Given the description of an element on the screen output the (x, y) to click on. 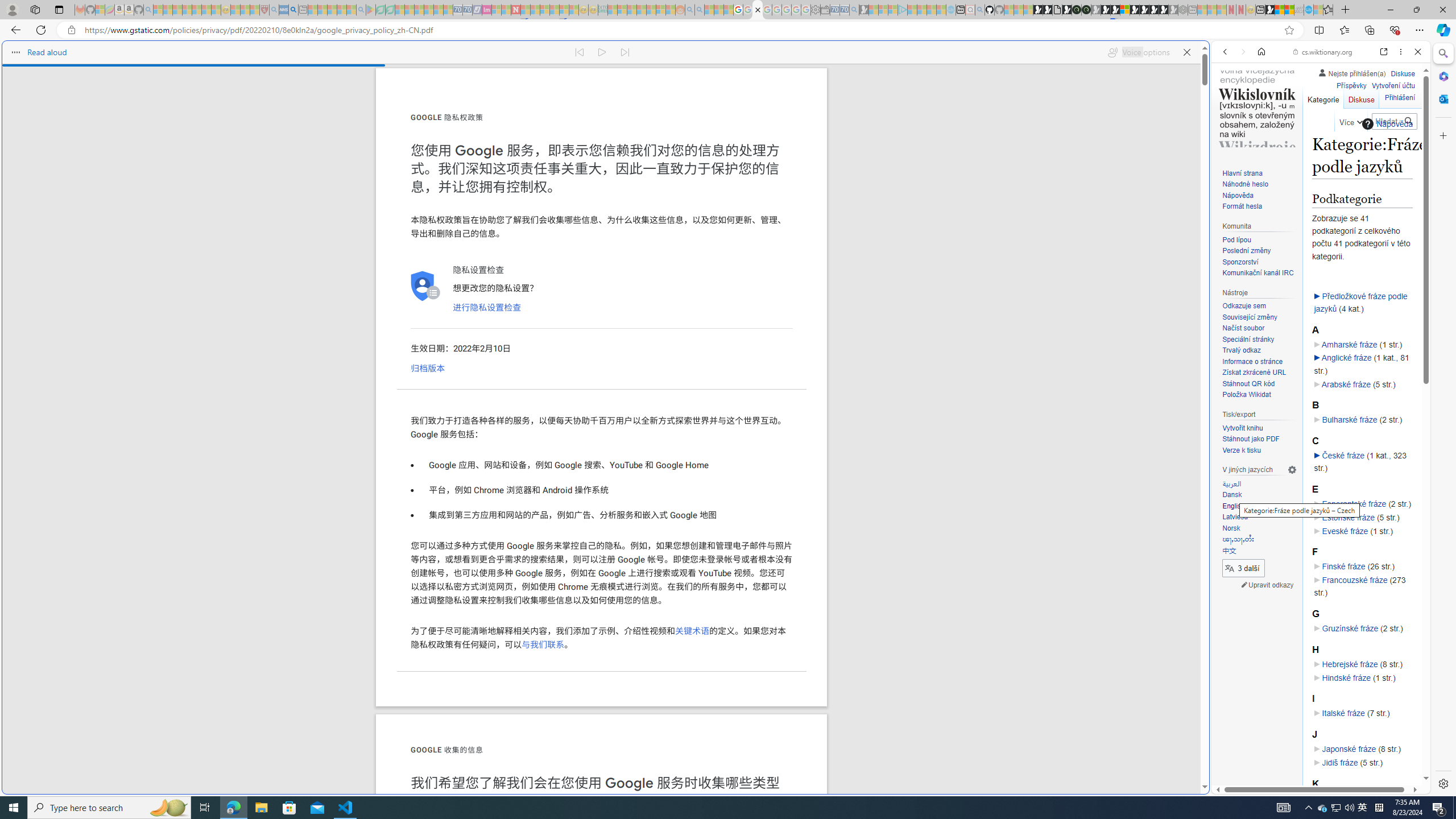
Navy Quest (1299, 9)
